Given the description of an element on the screen output the (x, y) to click on. 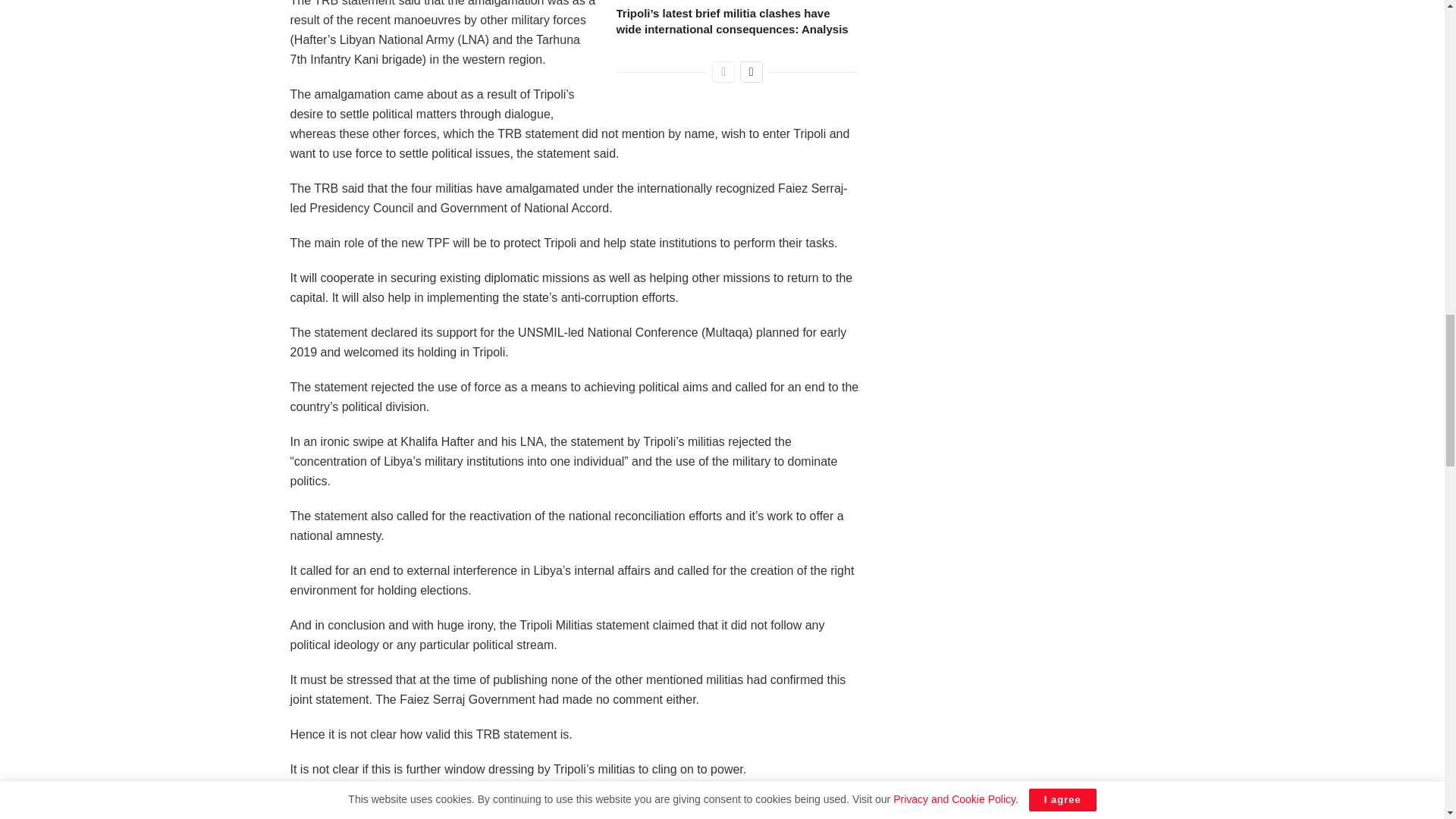
Previous (723, 71)
Next (750, 71)
